Given the description of an element on the screen output the (x, y) to click on. 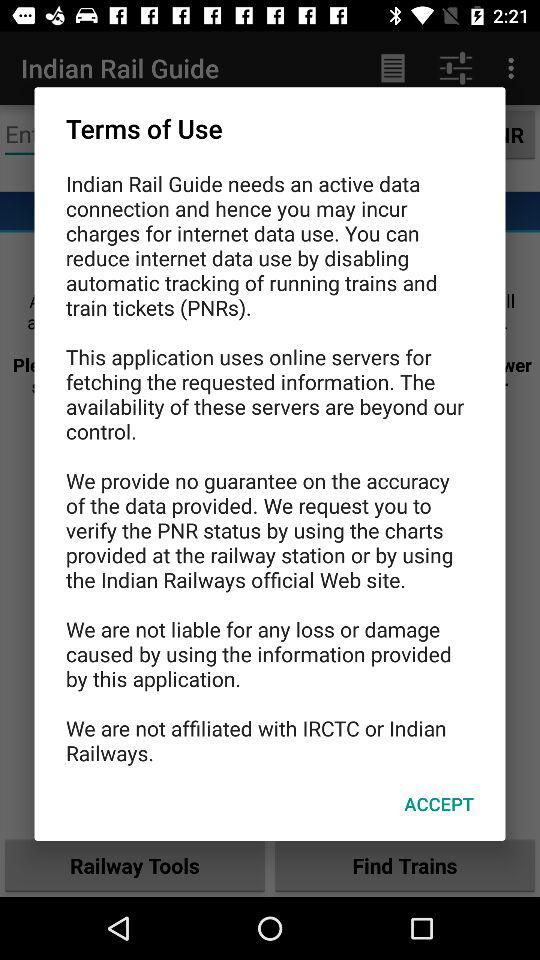
tap icon at the bottom right corner (438, 803)
